Given the description of an element on the screen output the (x, y) to click on. 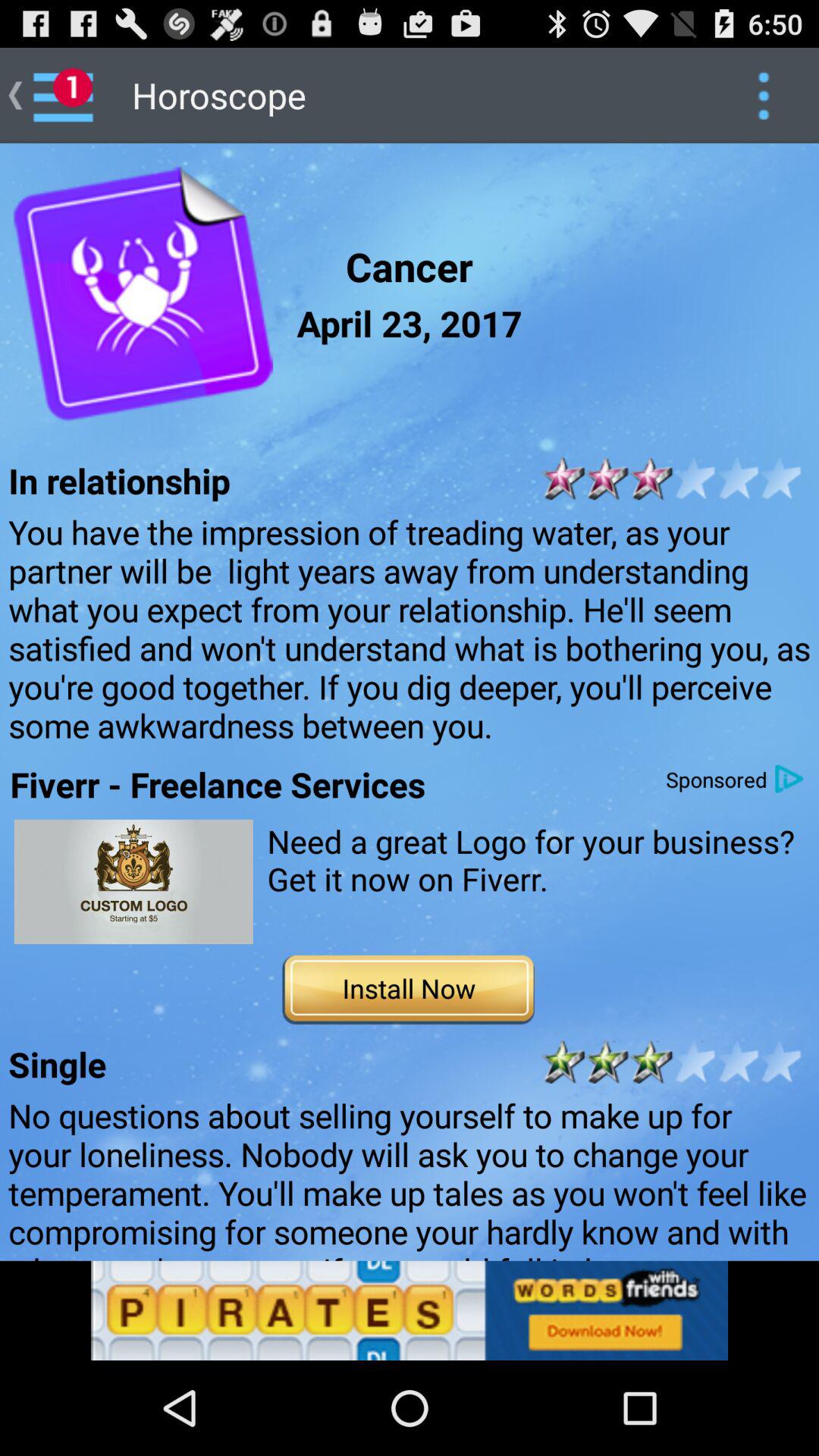
menu (763, 95)
